Given the description of an element on the screen output the (x, y) to click on. 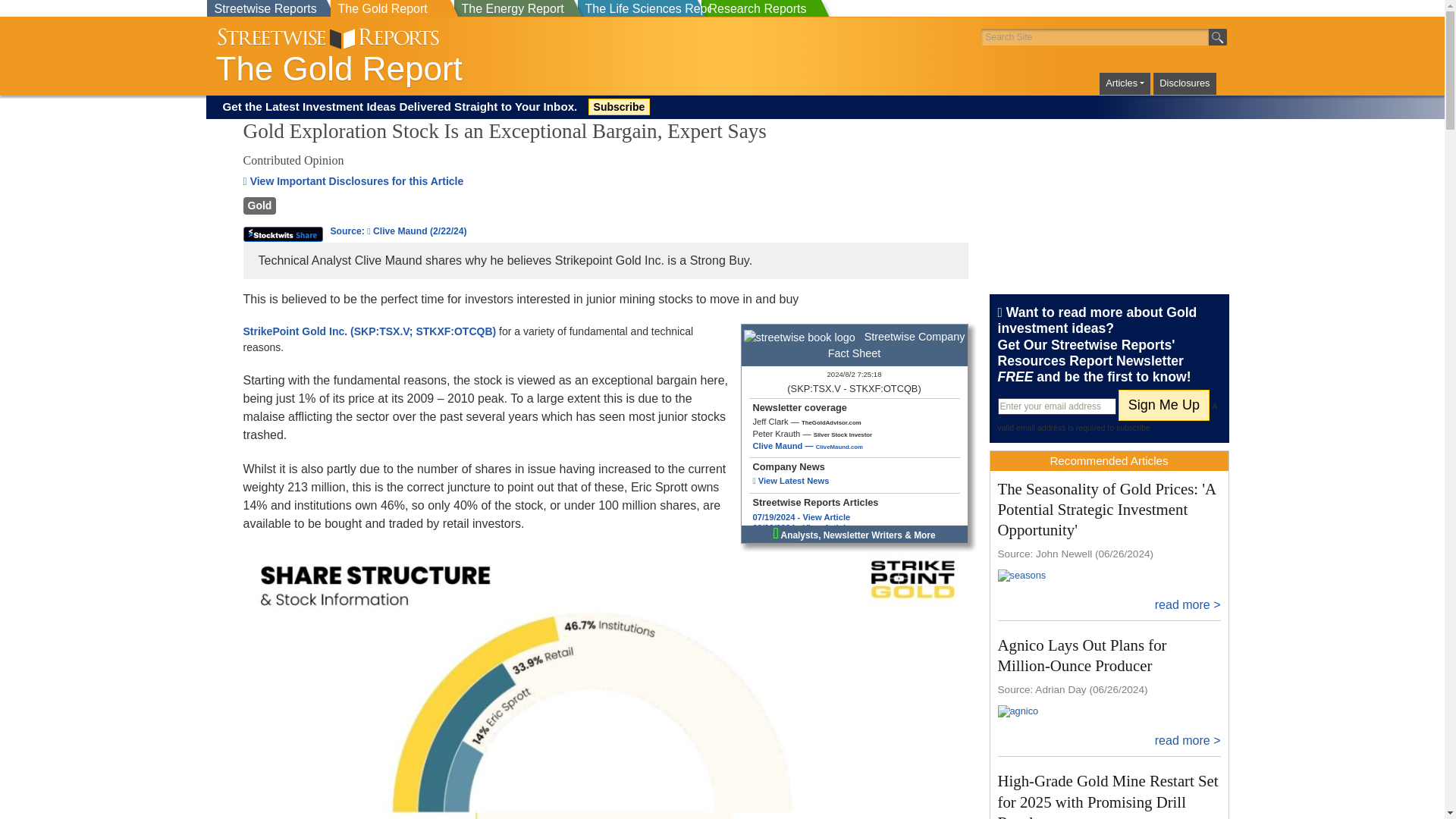
streetwise book logo (798, 338)
Disclosures (1184, 83)
Streetwie Reports Article (801, 537)
View Latest News (790, 480)
Streetwie Reports Article (801, 516)
Subscribe (619, 106)
More Gold Articles (259, 205)
News Release (790, 480)
Search (1217, 36)
Sign Me Up (1163, 404)
The Gold Report (464, 68)
Gold (258, 205)
Streetwie Reports Article (801, 527)
Articles (1124, 83)
